Given the description of an element on the screen output the (x, y) to click on. 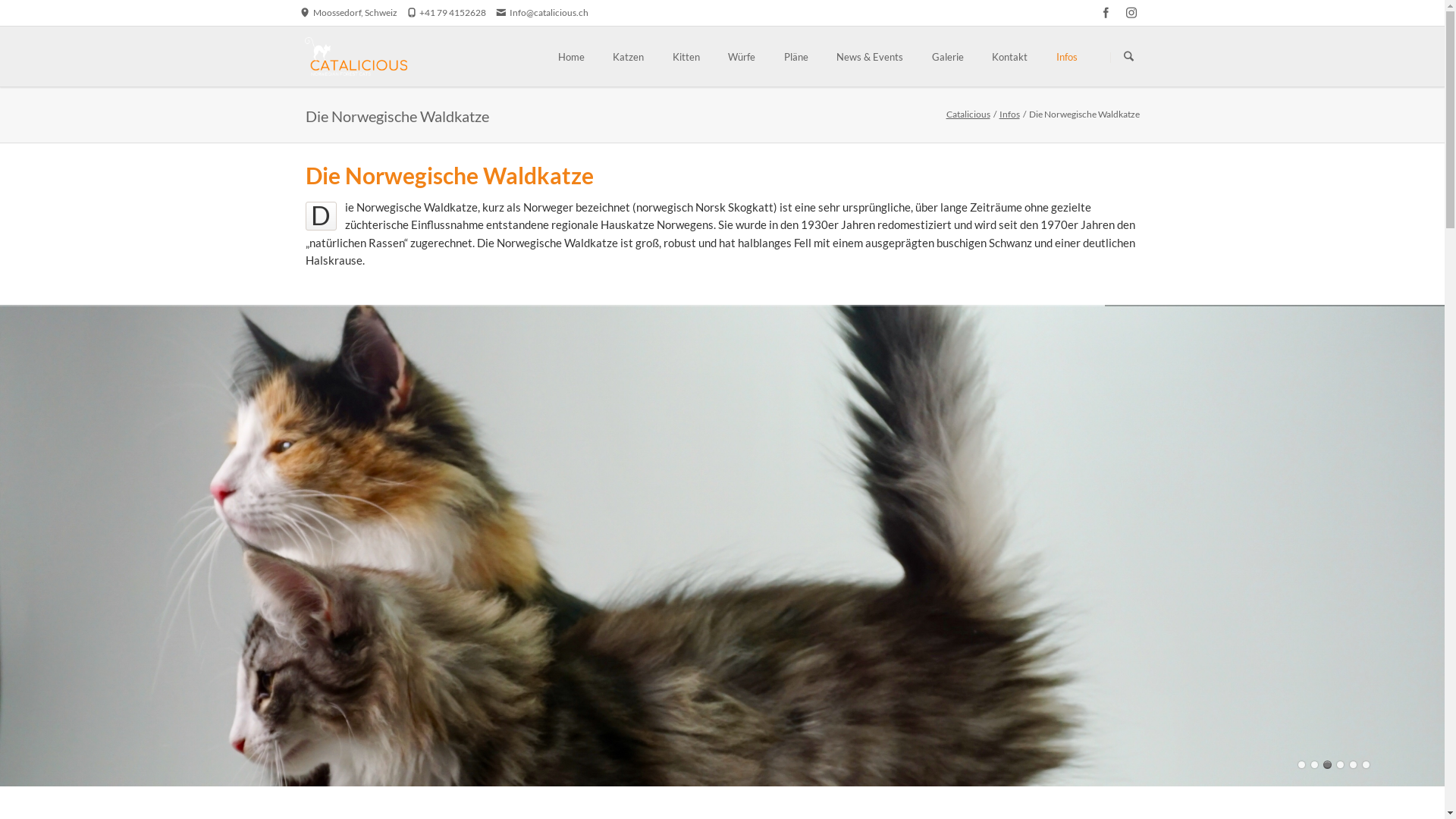
+41 79 4152628 Element type: text (446, 12)
3 Element type: text (1327, 764)
Moossedorf, Schweiz Element type: text (348, 12)
Home Element type: text (571, 56)
Katzen Element type: text (628, 56)
6 Element type: text (1365, 764)
Catalicious Element type: text (968, 113)
Info@catalicious.ch Element type: text (542, 12)
5 Element type: text (1352, 764)
Kitten Element type: text (686, 56)
News & Events Element type: text (869, 56)
SUCHEN Element type: text (1128, 57)
1 Element type: text (1301, 764)
Infos Element type: text (1009, 113)
4 Element type: text (1339, 764)
Kontakt Element type: text (1009, 56)
2 Element type: text (1314, 764)
Galerie Element type: text (947, 56)
